Given the description of an element on the screen output the (x, y) to click on. 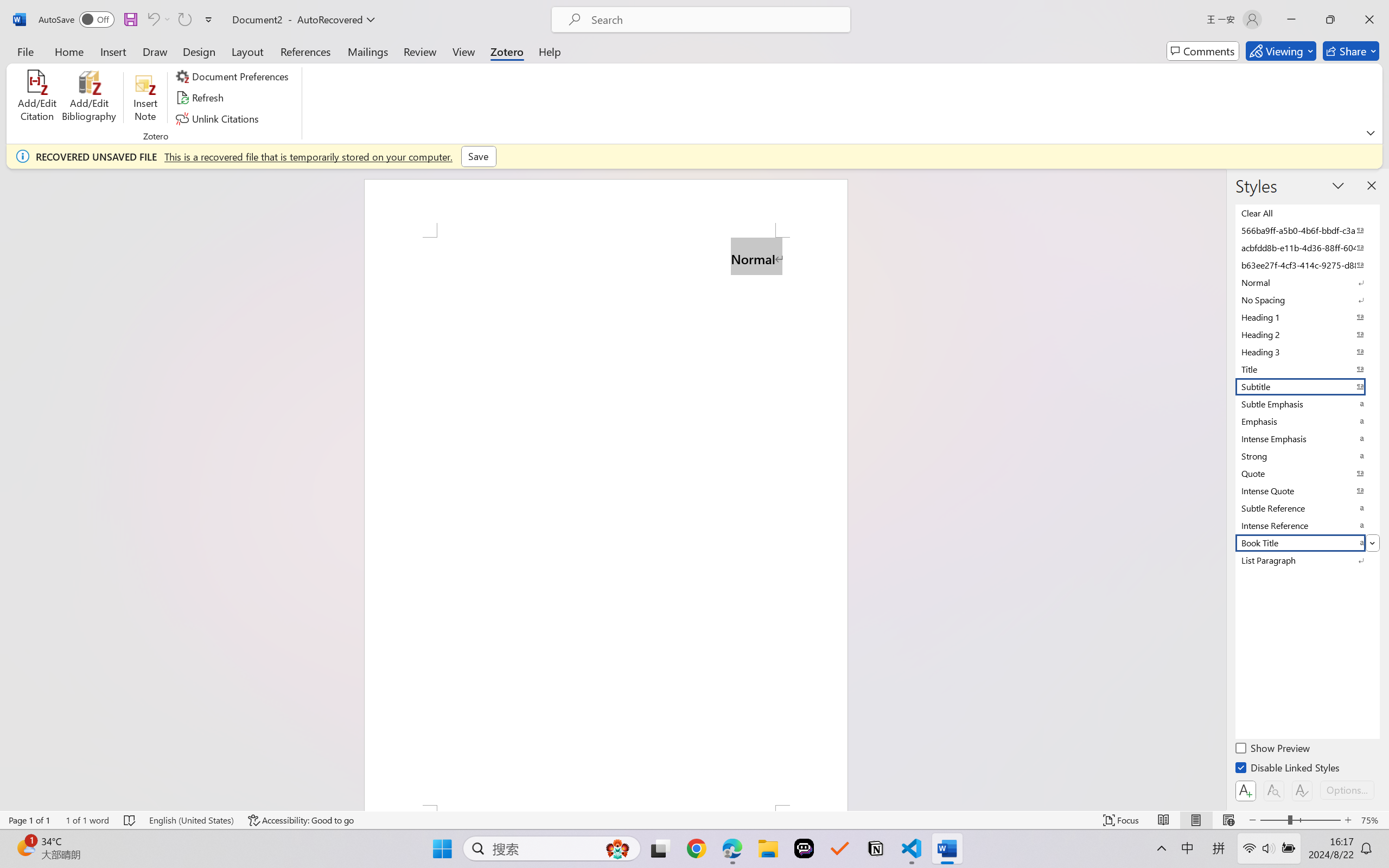
Insert Note (145, 97)
No Spacing (1306, 300)
Add/Edit Bibliography (88, 97)
Can't Repeat (184, 19)
Intense Reference (1306, 525)
Book Title (1306, 543)
Zoom 75% (1372, 819)
Normal (1306, 282)
b63ee27f-4cf3-414c-9275-d88e3f90795e (1306, 265)
Subtle Emphasis (1306, 404)
